Given the description of an element on the screen output the (x, y) to click on. 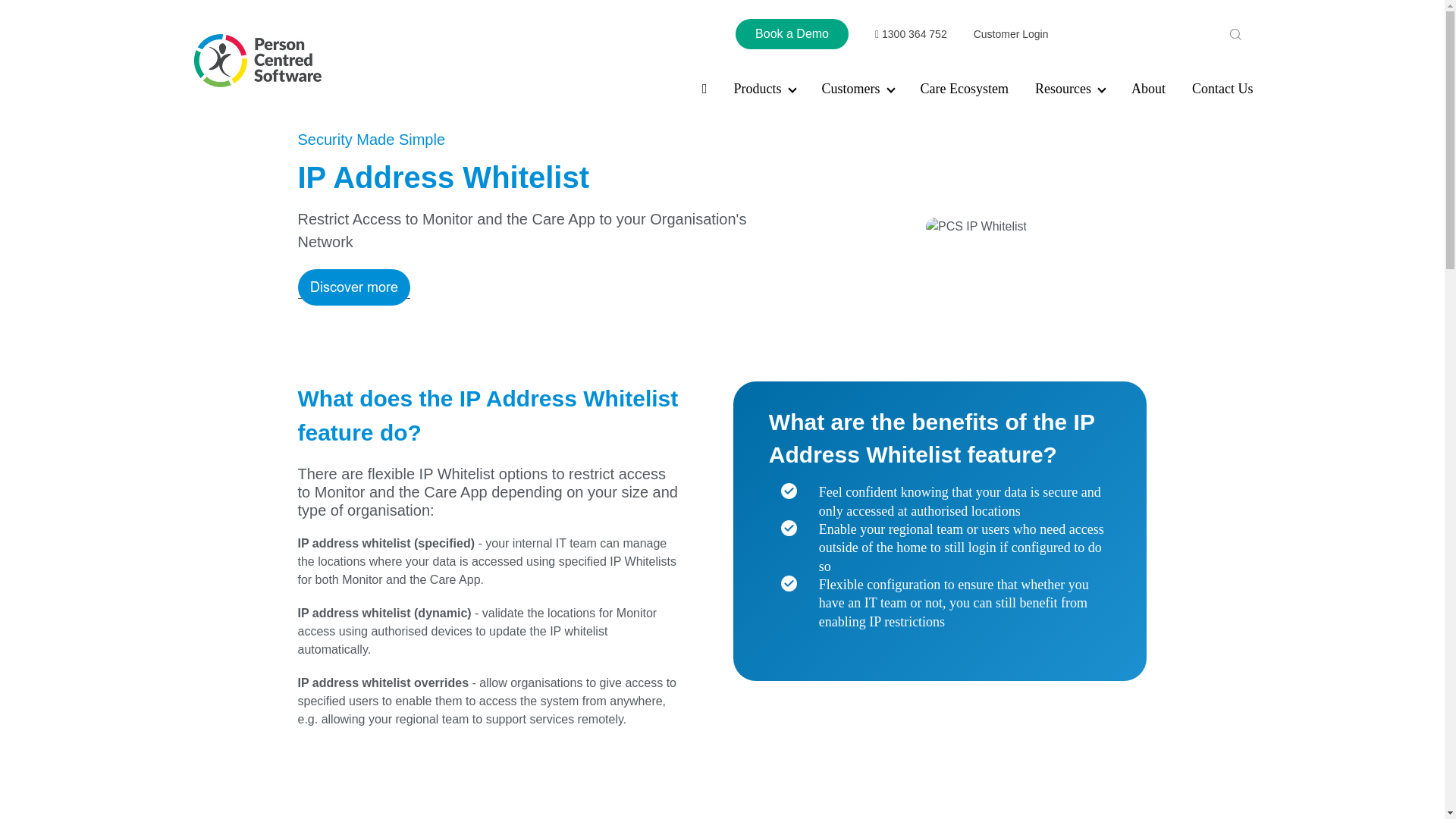
Customer Login (1011, 34)
icon-search Created with Sketch. (1235, 34)
Book a Demo (791, 33)
1300 364 752 (911, 34)
Resources (1070, 88)
Products (763, 88)
Care Ecosystem (964, 88)
icon-search Created with Sketch. (1235, 33)
PCS IP Whitelist (976, 226)
Customers (857, 88)
